Given the description of an element on the screen output the (x, y) to click on. 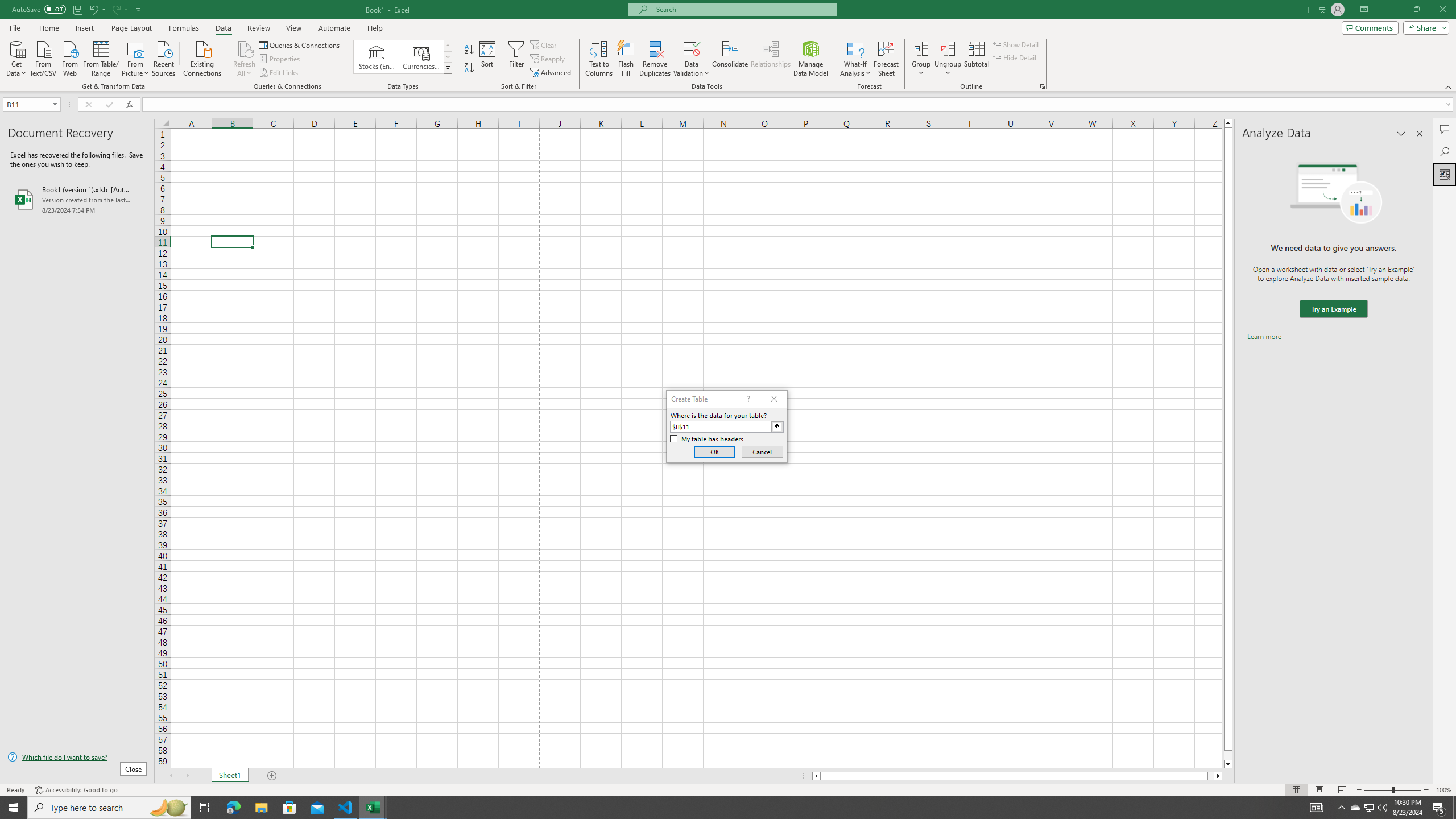
Show Detail (1016, 44)
We need data to give you answers. Try an Example (1333, 308)
Search (1444, 151)
